Given the description of an element on the screen output the (x, y) to click on. 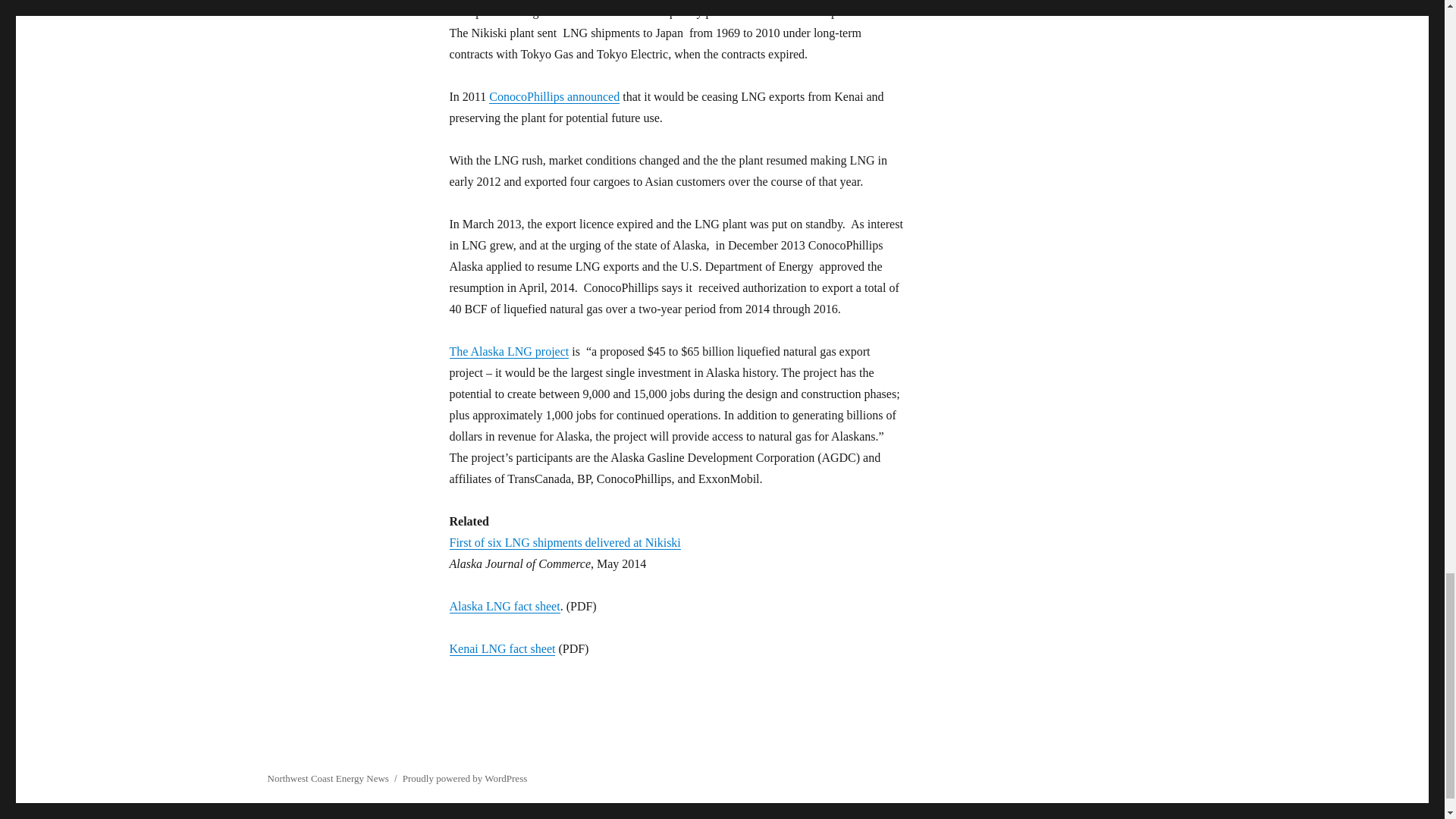
The Alaska LNG project (508, 350)
ConocoPhillips announced (554, 96)
Alaska LNG fact sheet (503, 605)
First of six LNG shipments delivered at Nikiski (563, 542)
Kenai LNG fact sheet (501, 648)
